Given the description of an element on the screen output the (x, y) to click on. 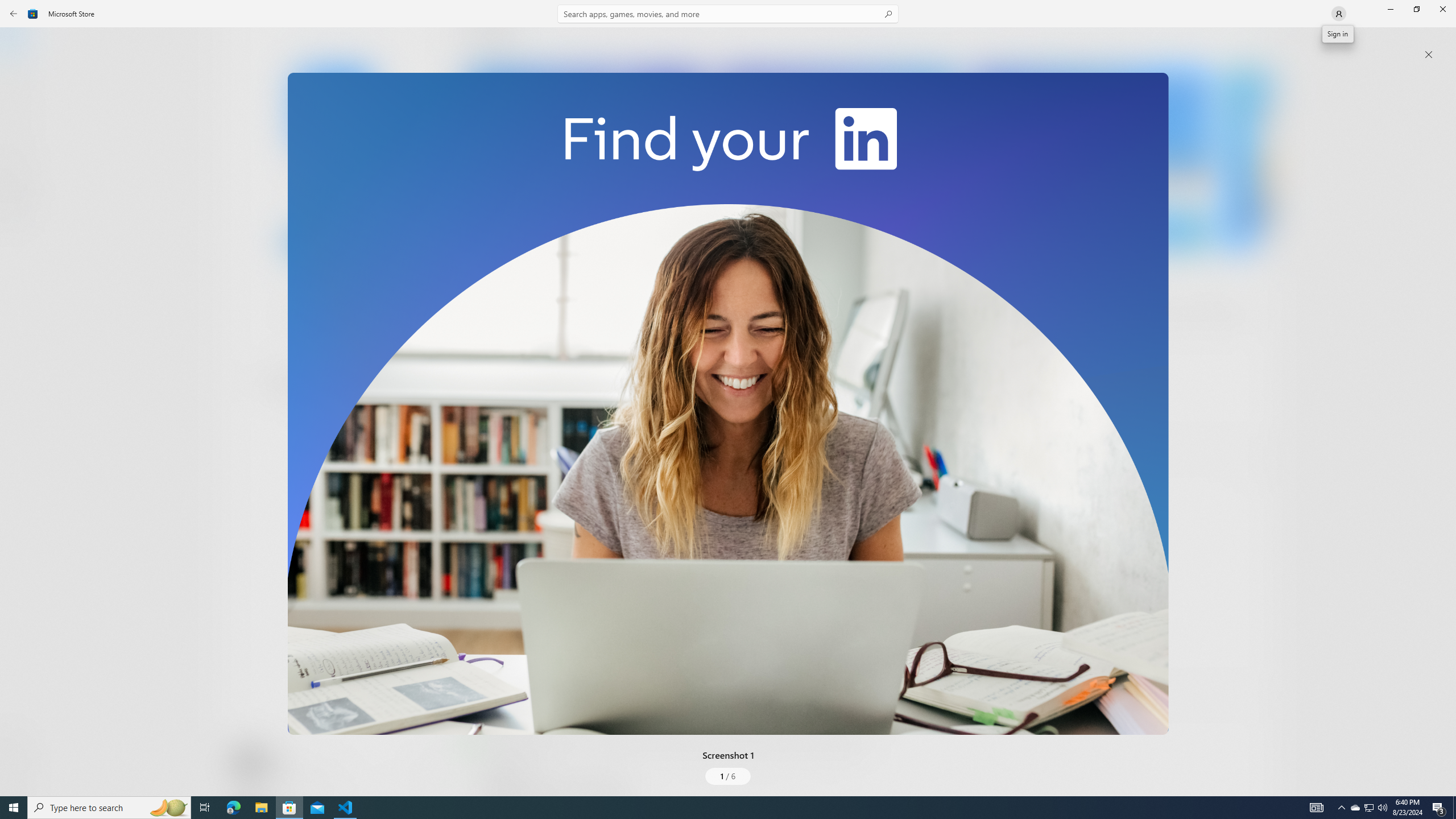
Screenshot 4 (1247, 158)
Search (727, 13)
Show all ratings and reviews (477, 667)
Library (20, 773)
Social (329, 423)
3.9 stars. Click to skip to ratings and reviews (307, 315)
Screenshot 2 (836, 158)
Gaming (20, 115)
User profile (1337, 12)
See all (1253, 41)
Screenshot 1 (727, 403)
Show more (485, 426)
Back (13, 13)
Restore Microsoft Store (1416, 9)
